Given the description of an element on the screen output the (x, y) to click on. 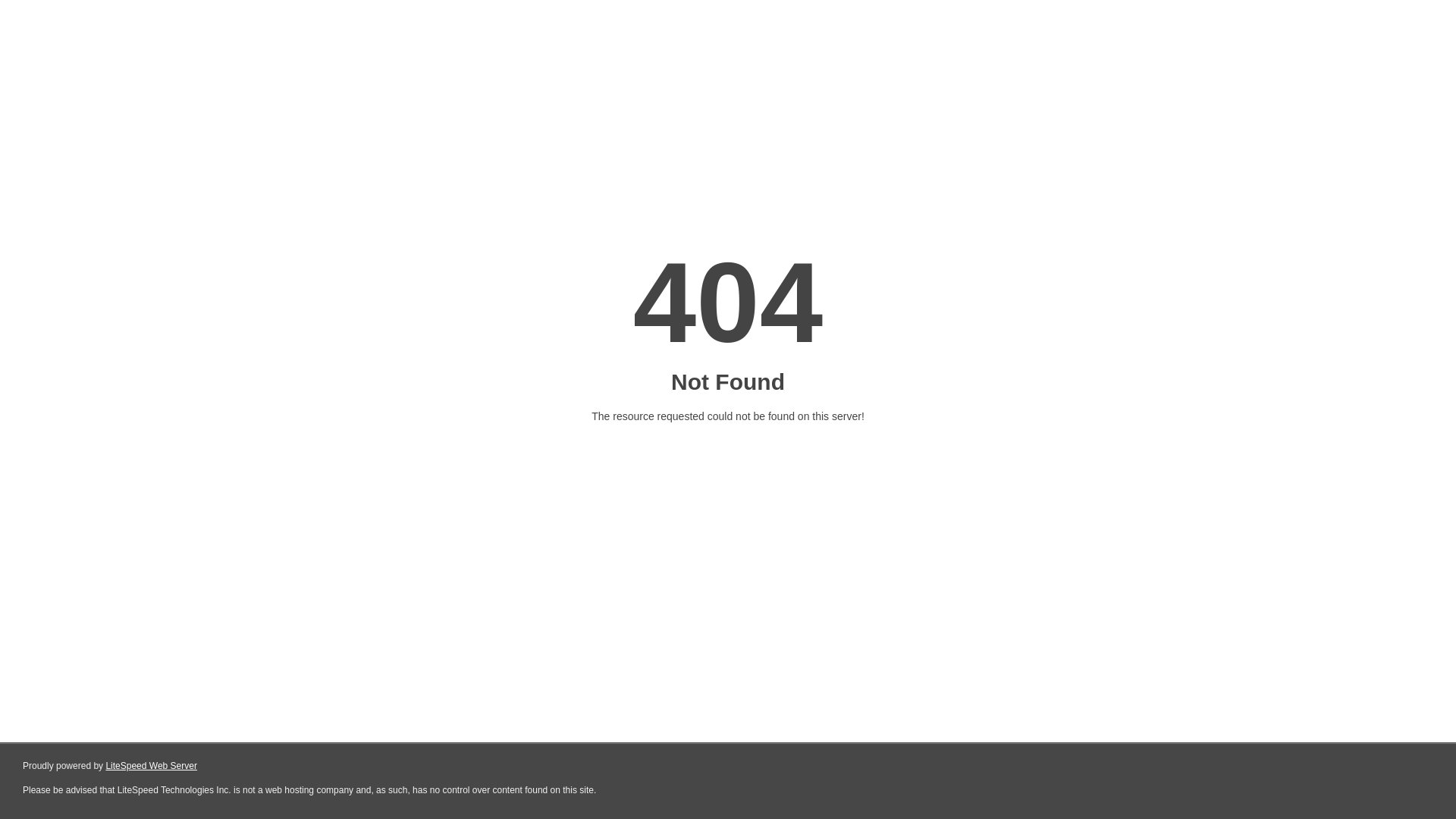
LiteSpeed Web Server Element type: text (151, 765)
